Given the description of an element on the screen output the (x, y) to click on. 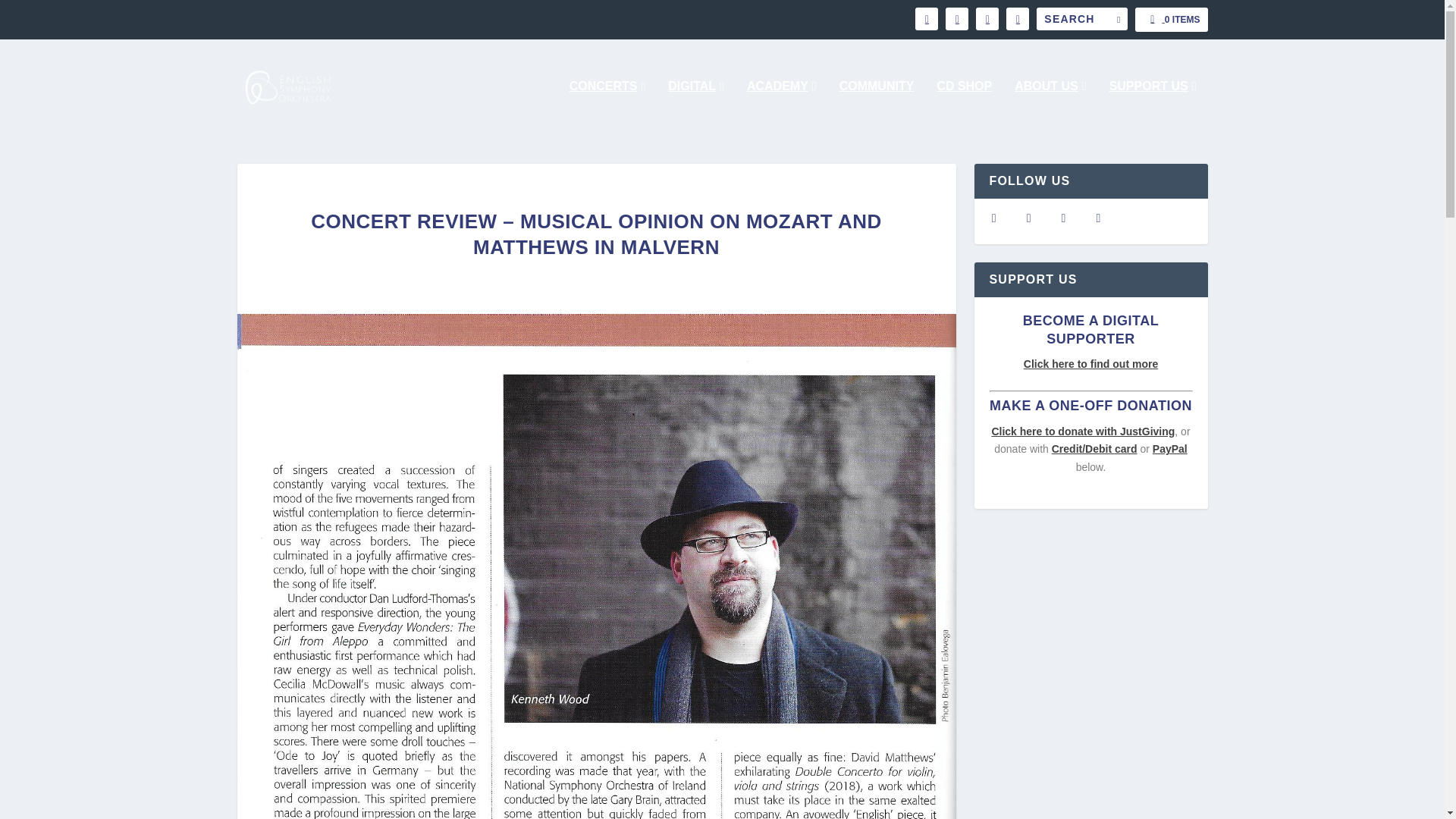
ACADEMY (781, 106)
ABOUT US (1050, 106)
Search for: (1081, 18)
0 ITEMS (1171, 19)
SUPPORT US (1152, 106)
CONCERTS (607, 106)
COMMUNITY (877, 106)
DIGITAL (695, 106)
0 Items in Cart (1171, 19)
CD SHOP (963, 106)
